Given the description of an element on the screen output the (x, y) to click on. 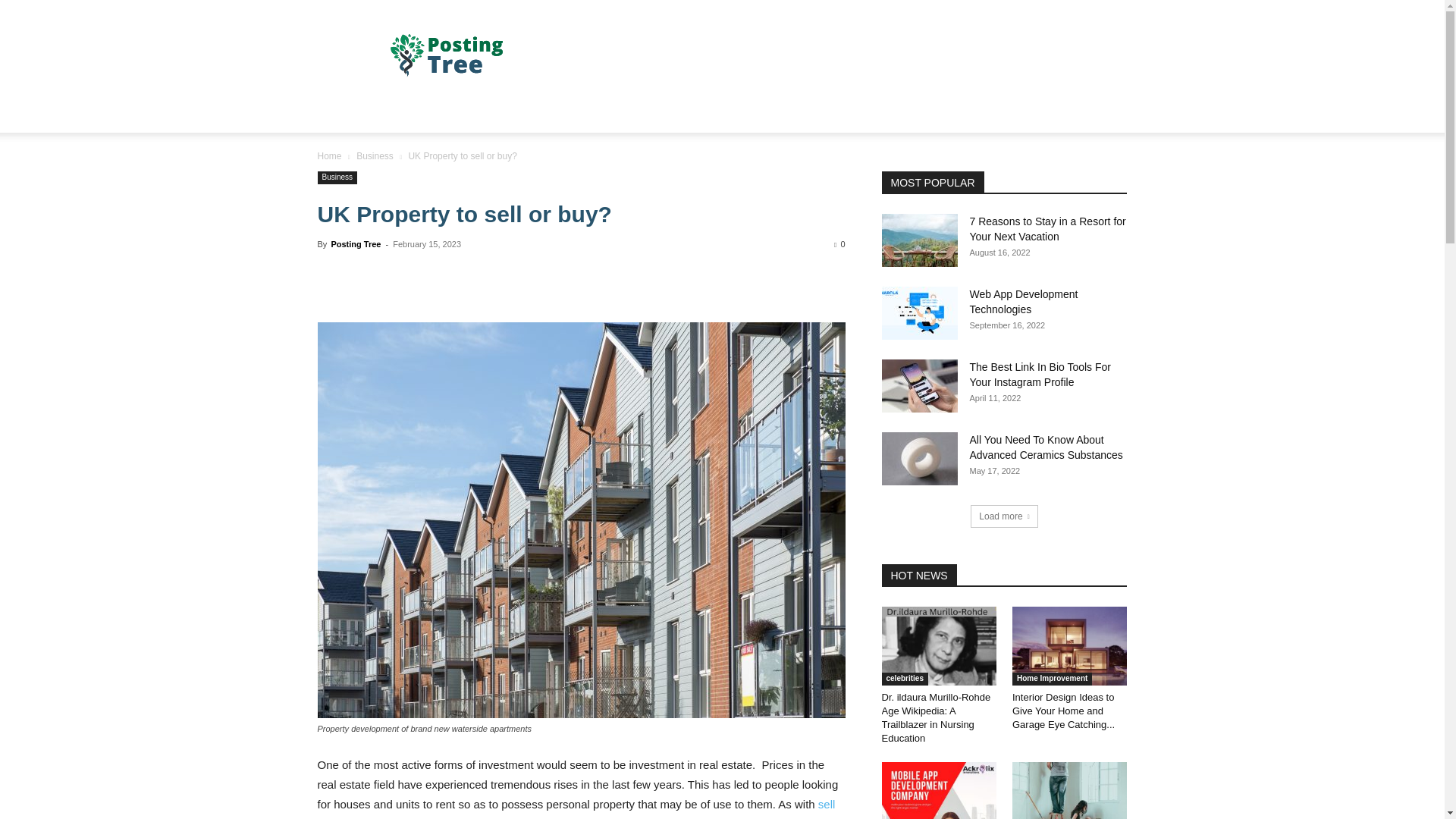
EDUCATION (646, 114)
HOME (343, 114)
Business (336, 177)
TECHNOLOGY (557, 114)
Search (1085, 174)
HEALTH (477, 114)
GUIDELINE (800, 114)
View all posts in Business (374, 155)
0 (839, 243)
CONTACT (724, 114)
